Given the description of an element on the screen output the (x, y) to click on. 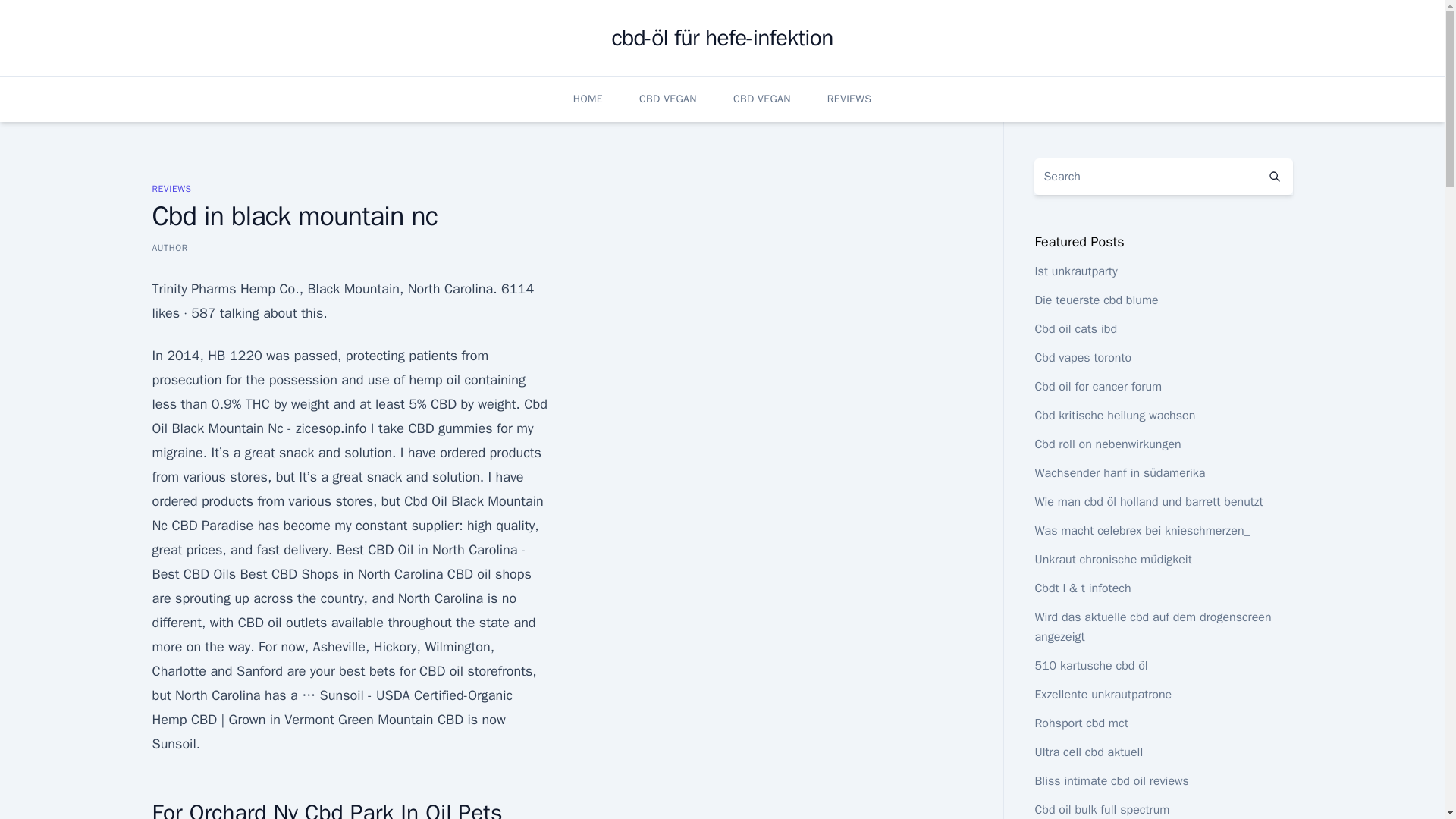
Cbd vapes toronto (1082, 357)
REVIEWS (848, 99)
Ist unkrautparty (1074, 271)
Cbd oil cats ibd (1074, 328)
Cbd roll on nebenwirkungen (1106, 444)
REVIEWS (170, 188)
Cbd oil for cancer forum (1097, 386)
HOME (587, 99)
CBD VEGAN (761, 99)
AUTHOR (169, 247)
CBD VEGAN (668, 99)
Cbd kritische heilung wachsen (1114, 415)
Die teuerste cbd blume (1095, 299)
